Given the description of an element on the screen output the (x, y) to click on. 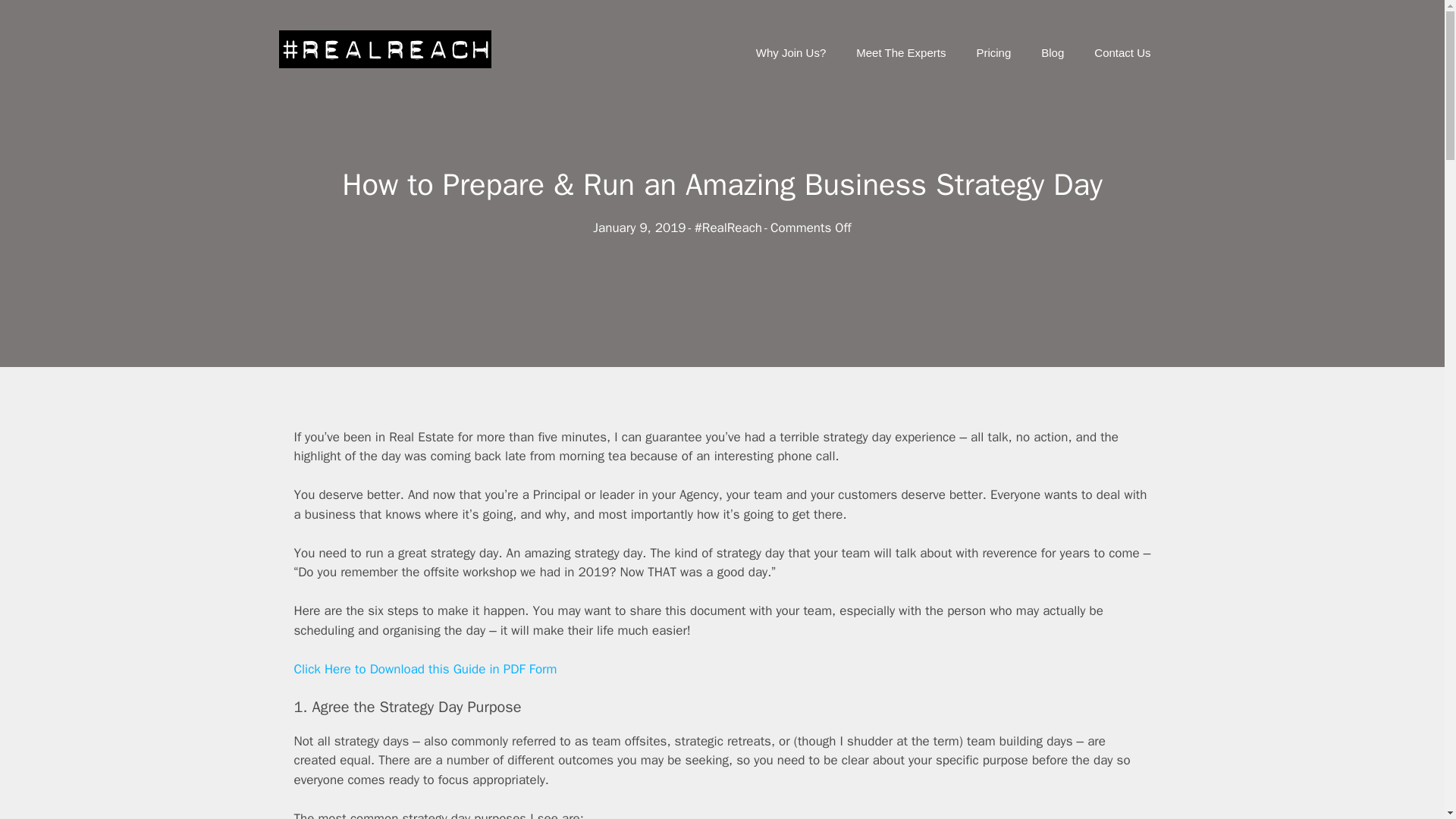
Why Join Us? (791, 53)
Click Here to Download this Guide in PDF Form (425, 668)
Pricing (993, 53)
Meet The Experts (900, 53)
Blog (1052, 53)
Contact Us (1122, 53)
